Given the description of an element on the screen output the (x, y) to click on. 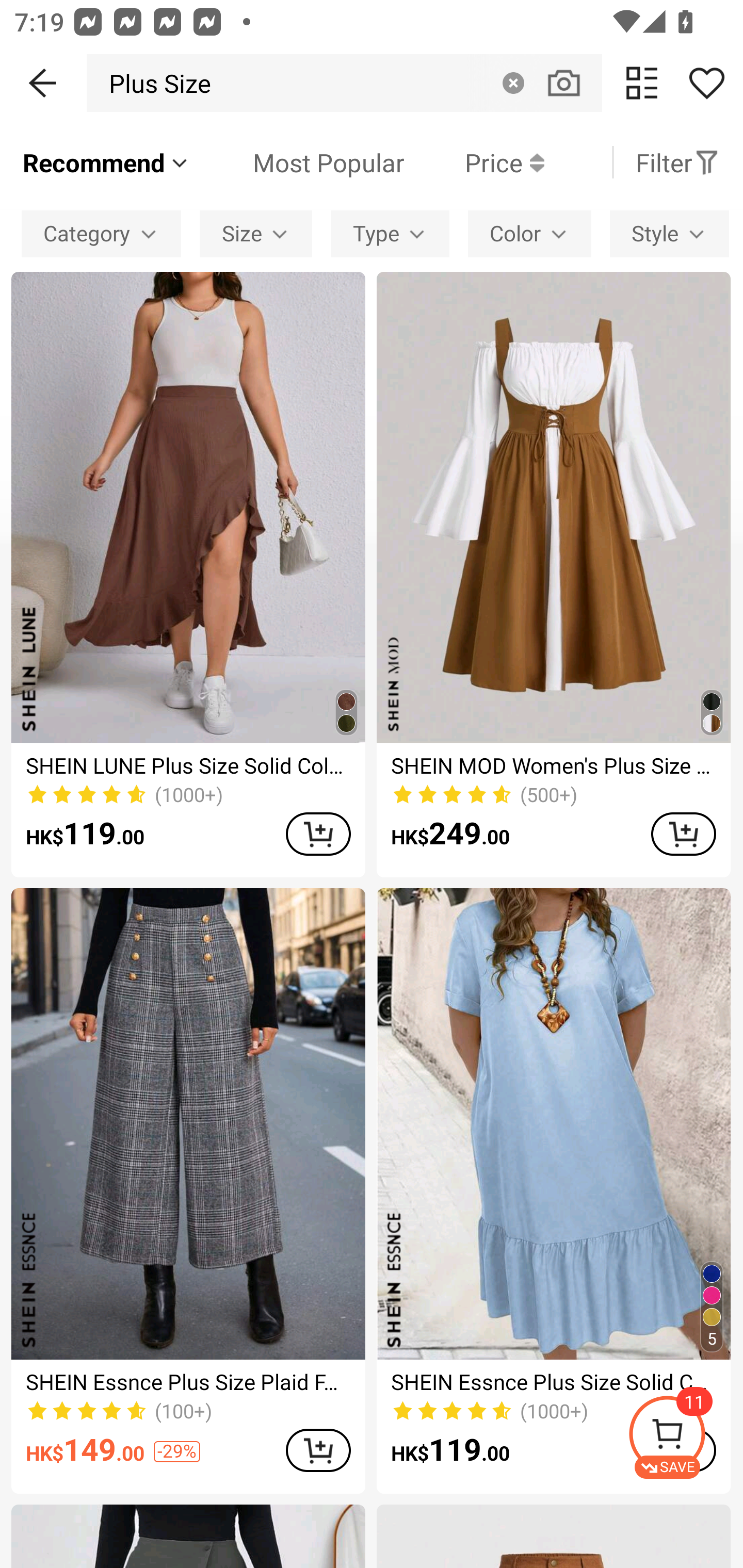
Plus Size Clear (343, 82)
Plus Size (153, 82)
Clear (513, 82)
change view (641, 82)
Share (706, 82)
Recommend (106, 162)
Most Popular (297, 162)
Price (474, 162)
Filter (677, 162)
Category (101, 233)
Size (255, 233)
Type (389, 233)
Color (529, 233)
Style (669, 233)
ADD TO CART (318, 834)
ADD TO CART (683, 834)
SAVE (685, 1436)
ADD TO CART (318, 1450)
